Given the description of an element on the screen output the (x, y) to click on. 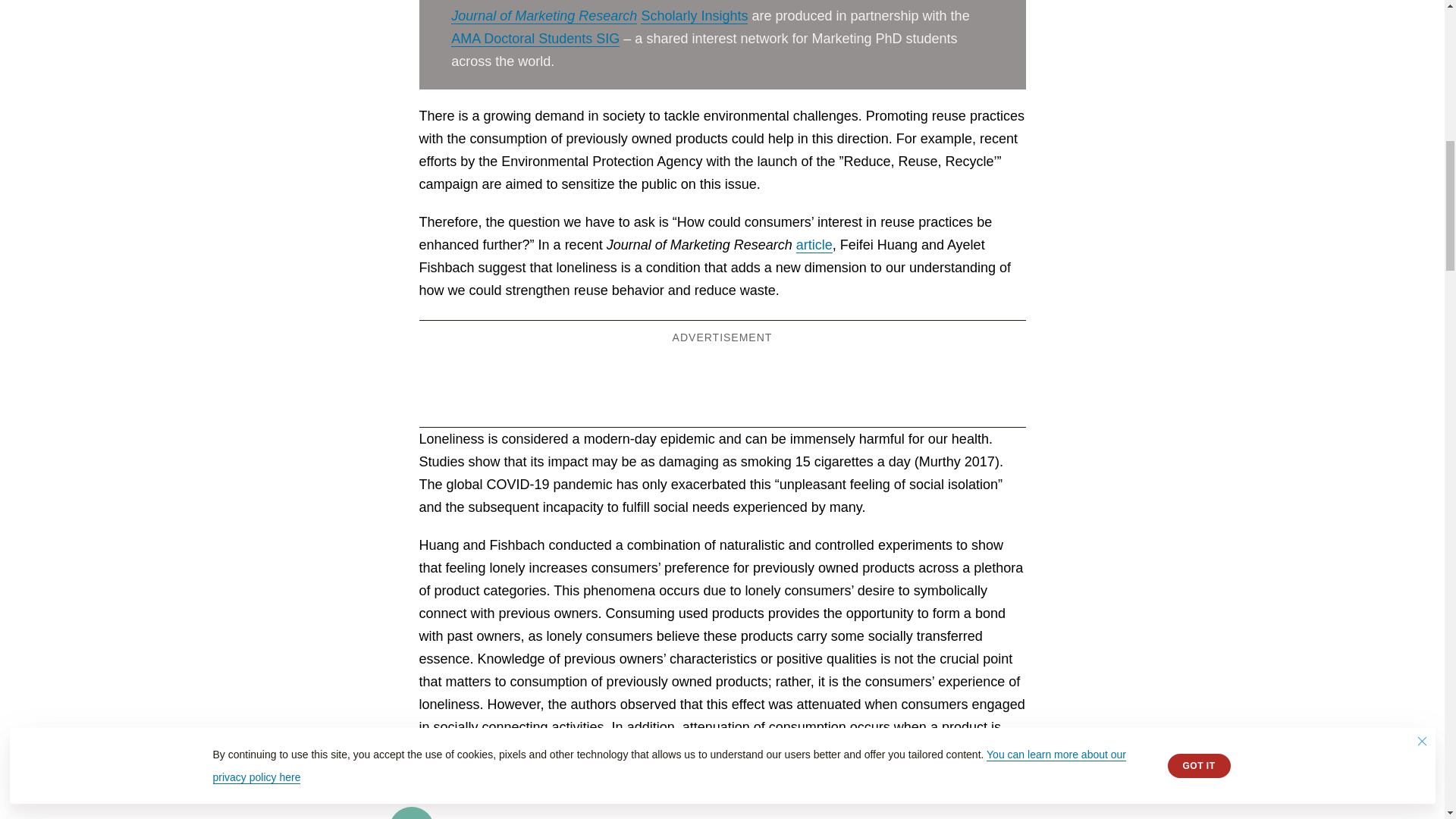
Journal of Marketing Research (544, 16)
Scholarly Insights (694, 16)
article (814, 245)
AMA Doctoral Students SIG (535, 38)
3rd party ad content (721, 381)
